Given the description of an element on the screen output the (x, y) to click on. 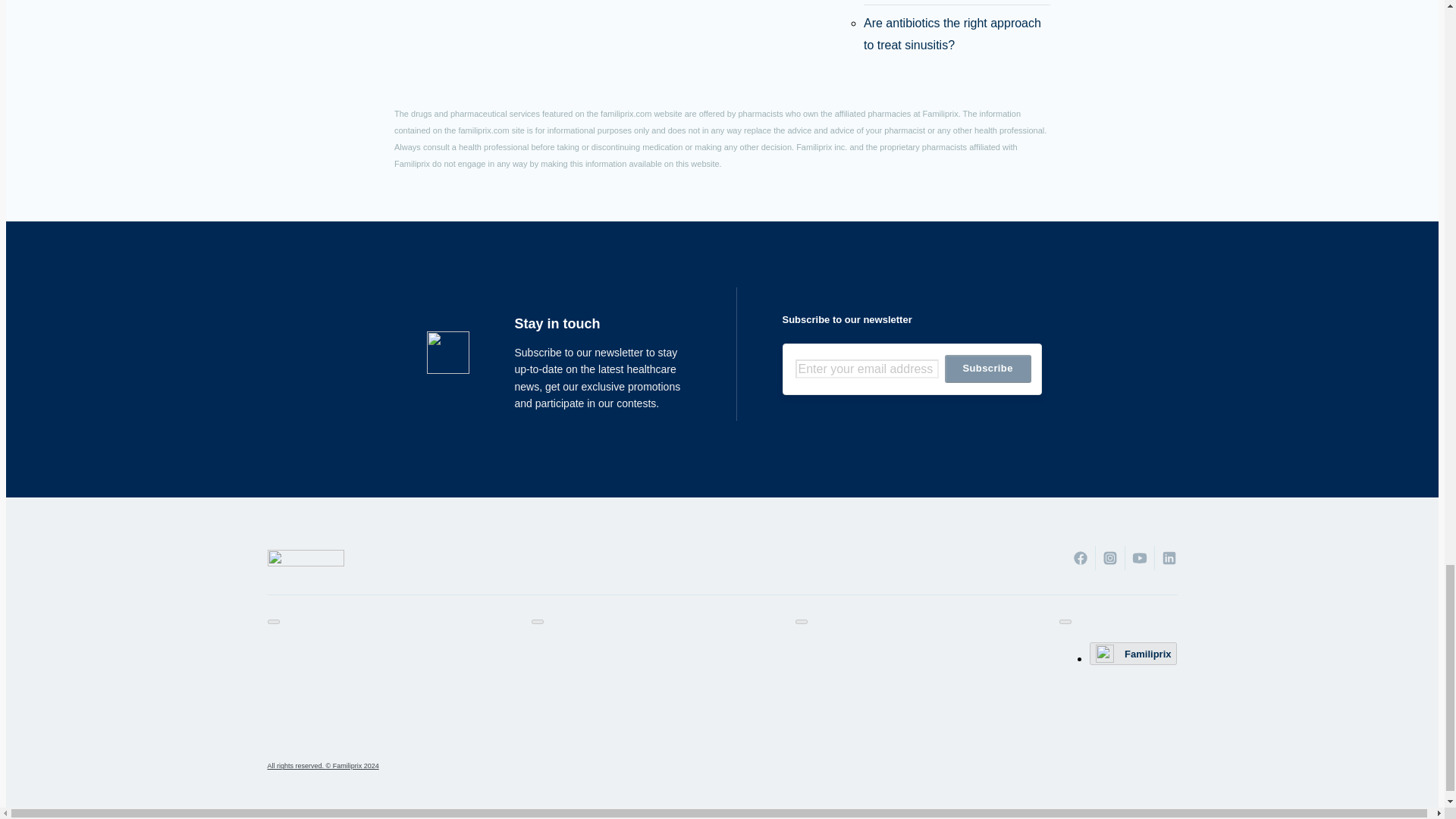
Are antibiotics the right approach to treat sinusitis? (952, 33)
Familiprix (1132, 653)
Subscribe (987, 368)
